Given the description of an element on the screen output the (x, y) to click on. 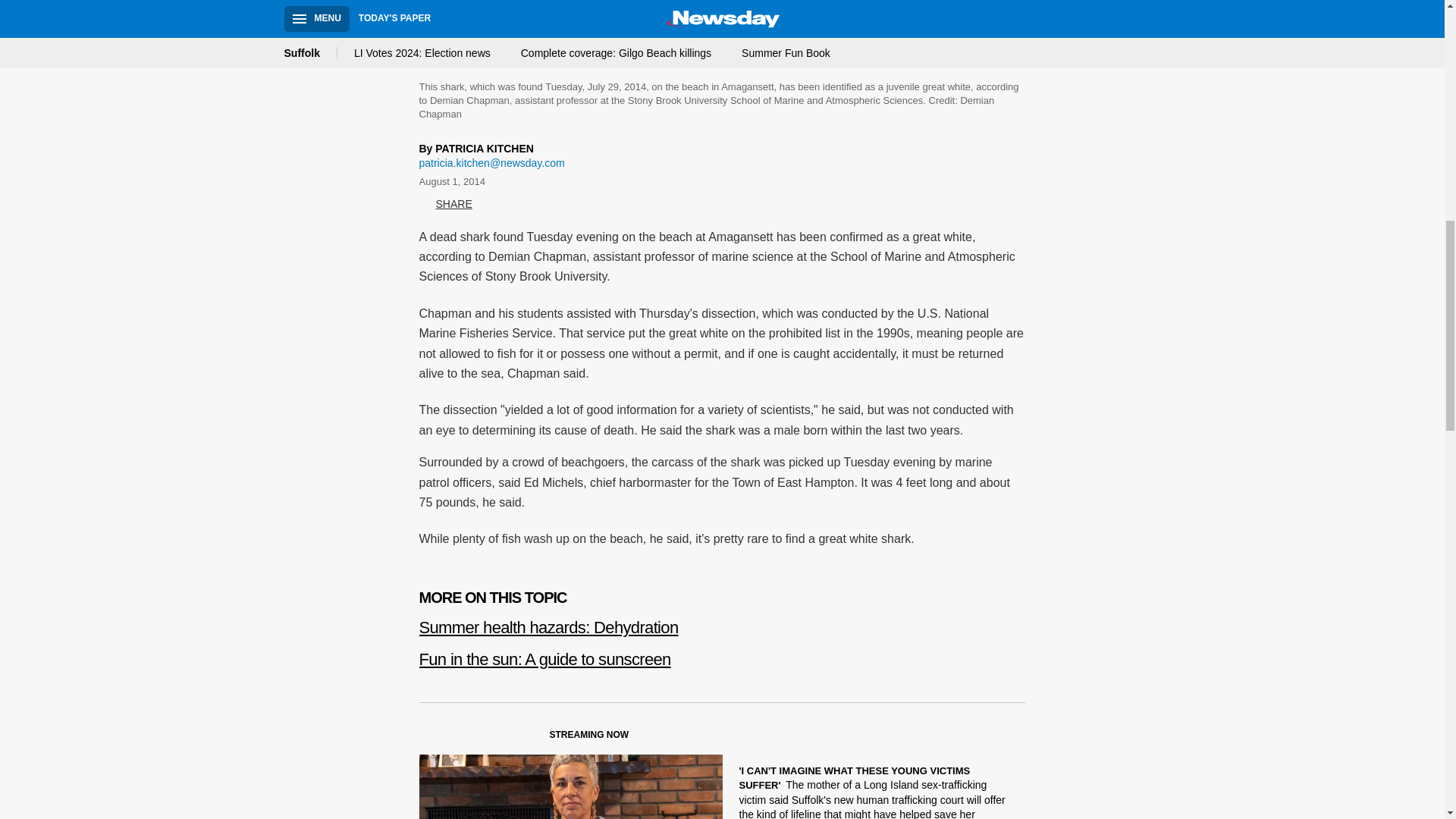
Summer health hazards: Dehydration (722, 621)
STREAMING NOW (530, 738)
Fun in the sun: A guide to sunscreen (722, 653)
Read in the app (238, 707)
SHARE (445, 204)
